Given the description of an element on the screen output the (x, y) to click on. 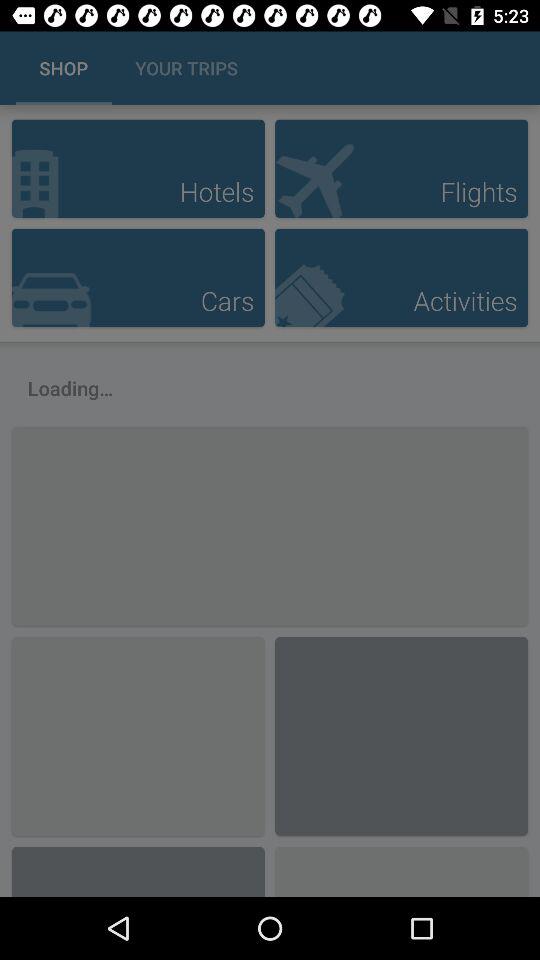
turn off the icon next to the your trips icon (503, 68)
